Given the description of an element on the screen output the (x, y) to click on. 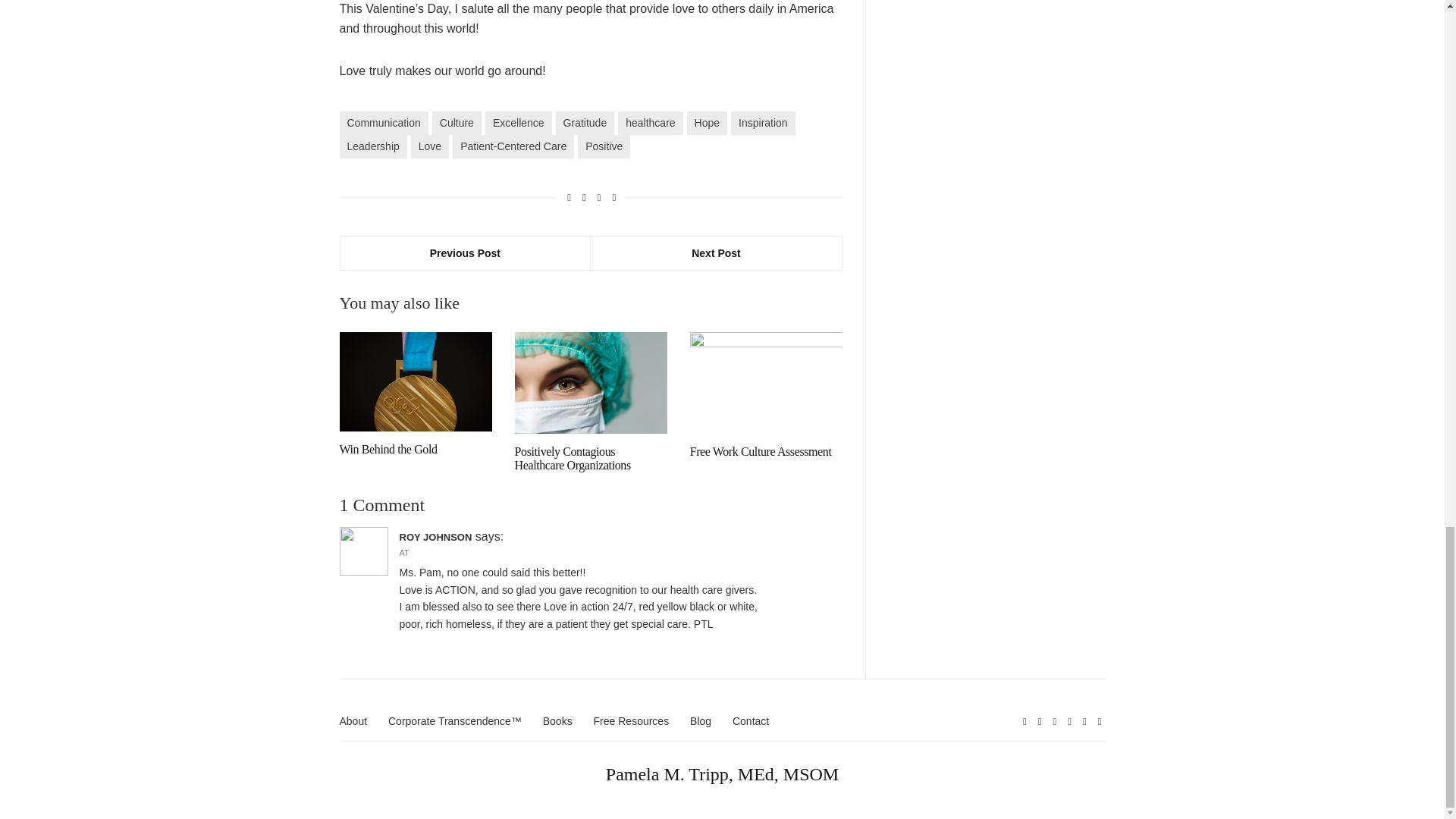
Previous Post (465, 253)
Hope (706, 123)
Gratitude (585, 123)
Positive (604, 146)
Next Post (716, 253)
Communication (383, 123)
Leadership (373, 146)
healthcare (649, 123)
Culture (456, 123)
Inspiration (762, 123)
